Given the description of an element on the screen output the (x, y) to click on. 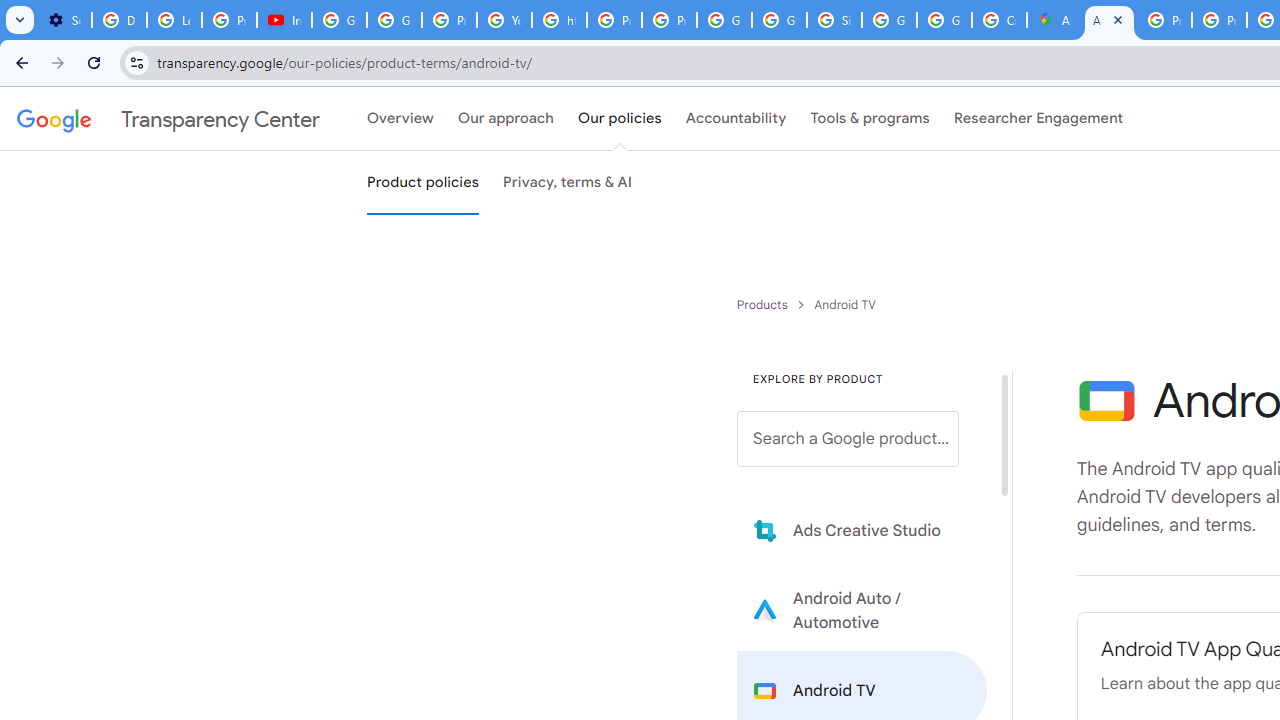
Learn more about Ads Creative Studio (862, 530)
Delete photos & videos - Computer - Google Photos Help (119, 20)
Our approach (506, 119)
Google Account Help (339, 20)
YouTube (504, 20)
